Given the description of an element on the screen output the (x, y) to click on. 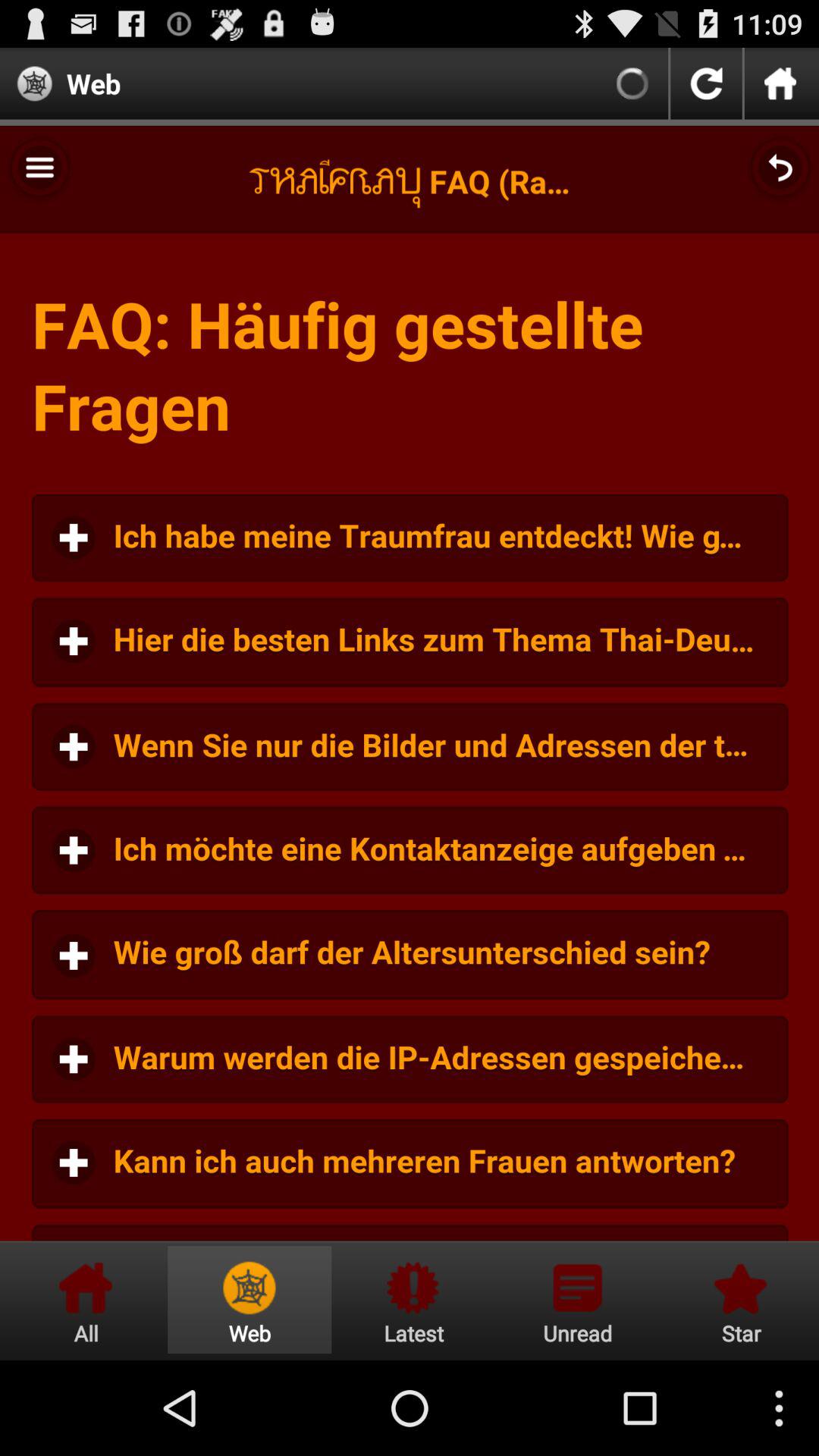
web (249, 1299)
